Given the description of an element on the screen output the (x, y) to click on. 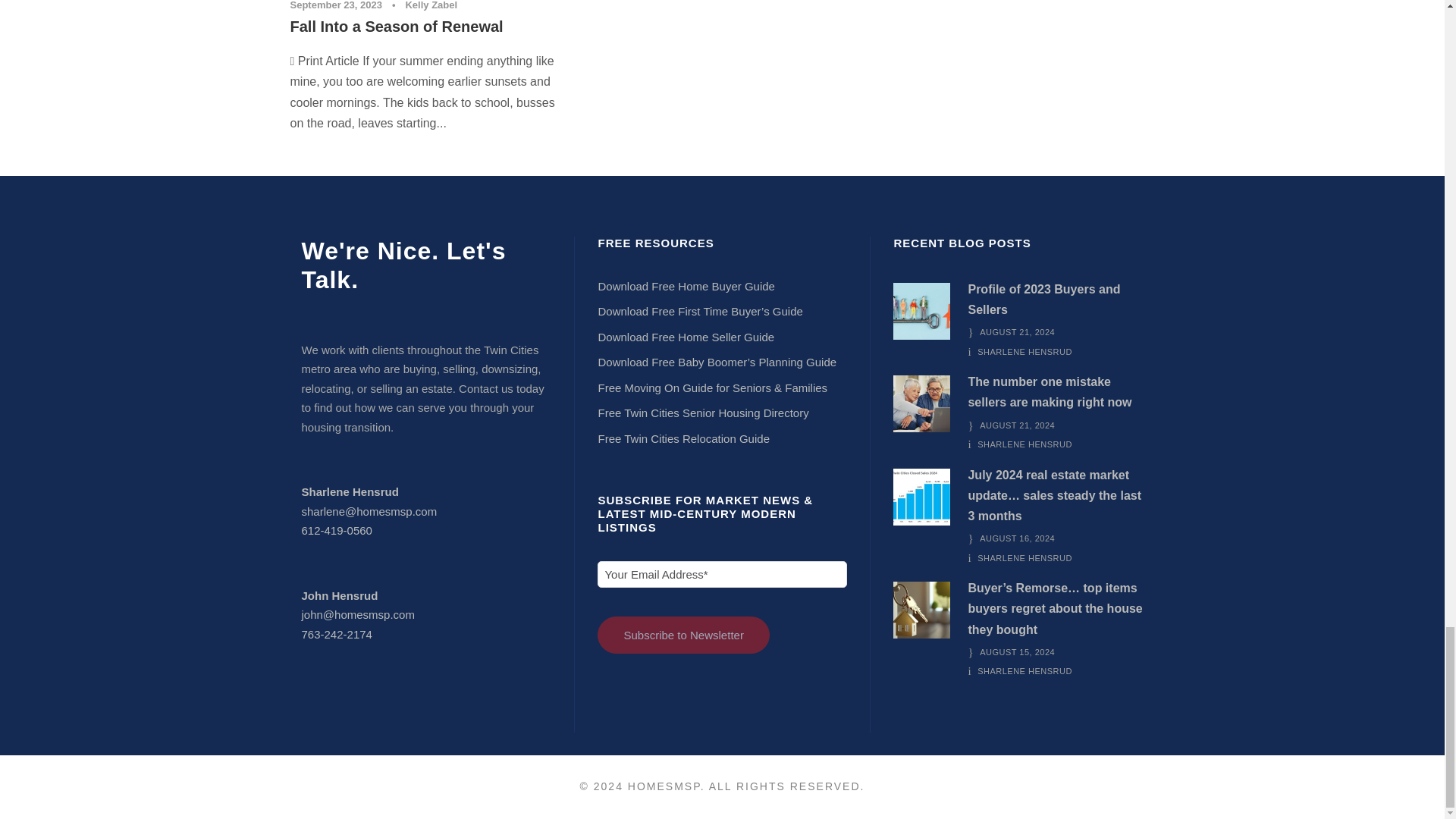
Posts by Sharlene Hensrud (1023, 557)
house-key6 (921, 609)
Posts by Sharlene Hensrud (1023, 351)
one key many buyers (921, 310)
Subscribe to Newsletter (682, 634)
2024-07-closed sales by month (921, 496)
couple-at computer (921, 403)
Posts by Kelly Zabel (430, 5)
Posts by Sharlene Hensrud (1023, 443)
